Given the description of an element on the screen output the (x, y) to click on. 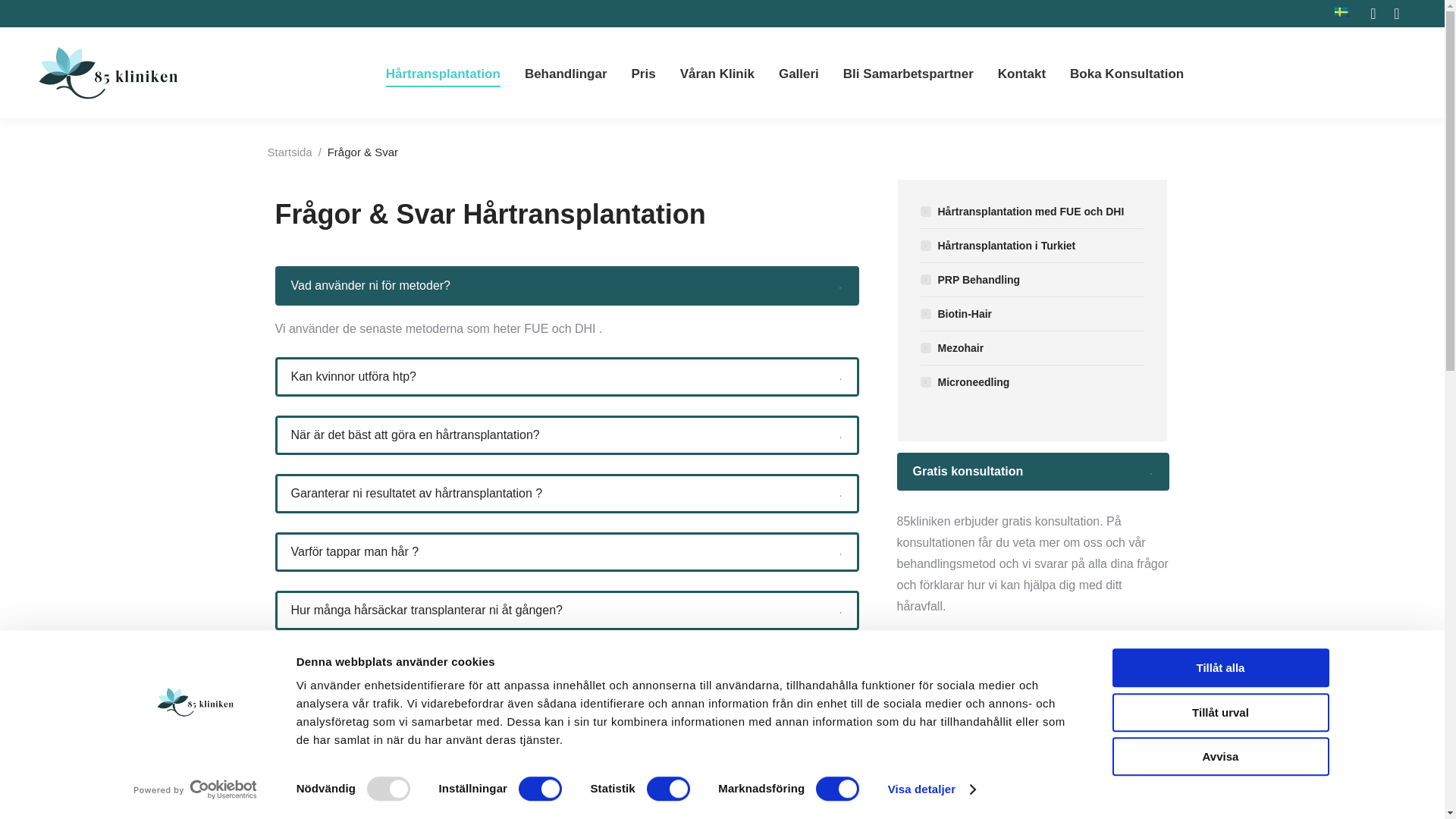
Visa detaljer (931, 789)
Avvisa (1219, 756)
Facebook page opens in new window (1372, 13)
Instagram page opens in new window (1396, 13)
